Given the description of an element on the screen output the (x, y) to click on. 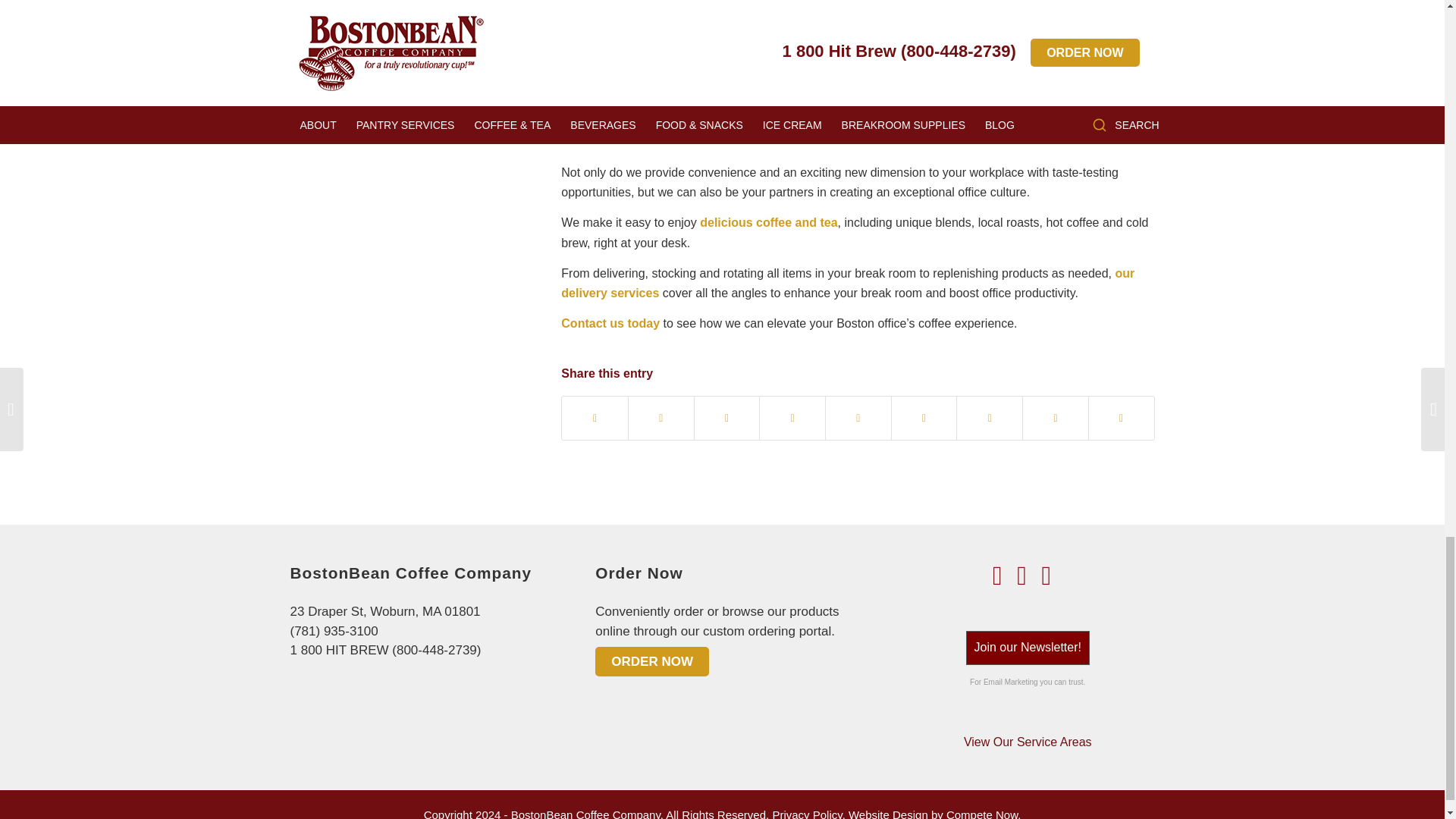
delicious coffee and tea (768, 222)
Contact us today (609, 323)
our delivery services (847, 282)
